Given the description of an element on the screen output the (x, y) to click on. 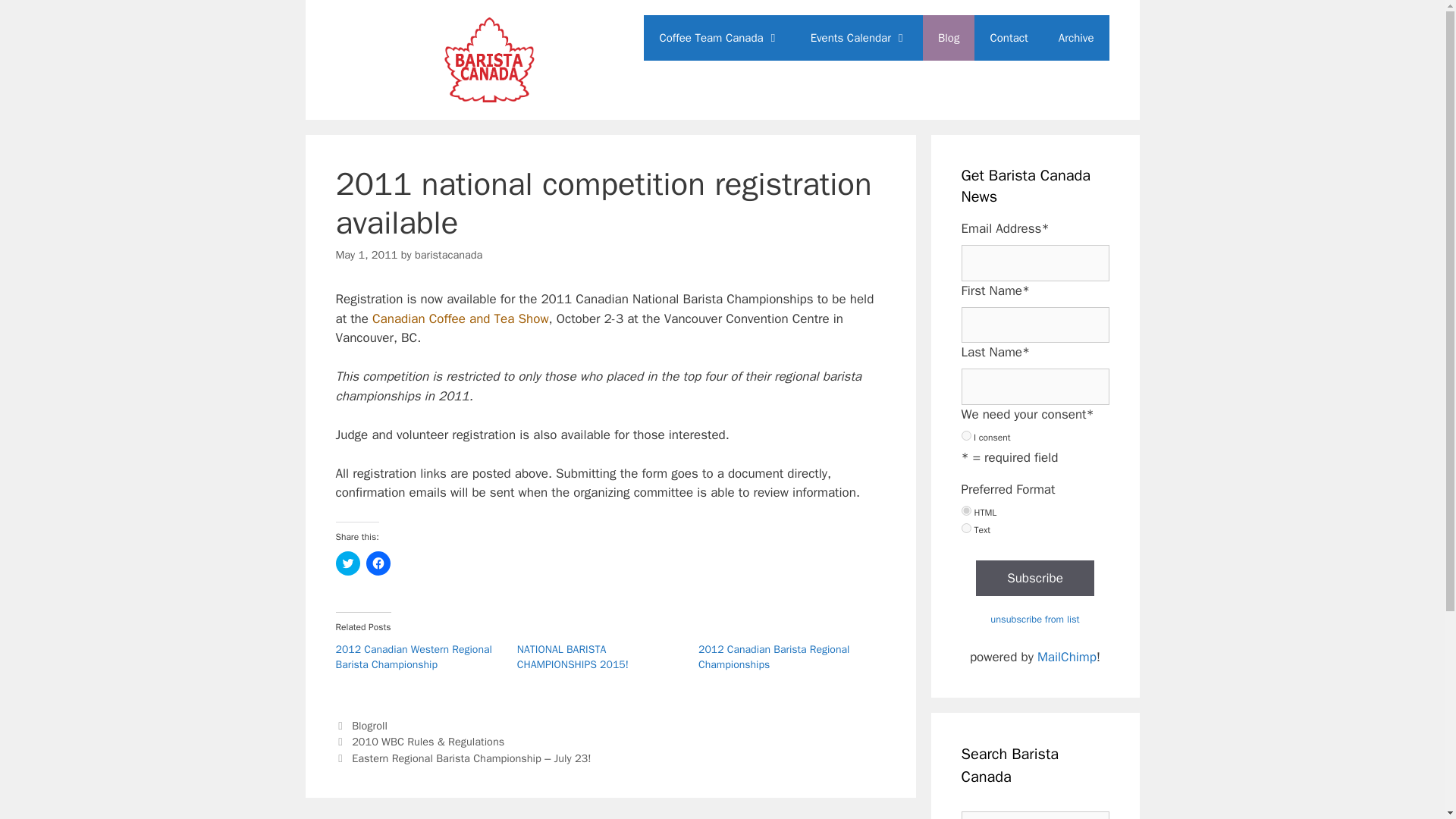
Canadian Coffee and Tea Show (460, 318)
Subscribe (1034, 578)
Click to share on Twitter (346, 563)
Subscribe (1034, 578)
unsubscribe from list (1034, 619)
baristacanada (447, 254)
Coffee Team Canada (718, 37)
2012 Canadian Western Regional Barista Championship (413, 656)
Blogroll (369, 725)
Archive (1076, 37)
Blog (948, 37)
View all posts by baristacanada (447, 254)
I consent (965, 435)
Events Calendar (858, 37)
2012 Canadian Barista Regional Championships (773, 656)
